Given the description of an element on the screen output the (x, y) to click on. 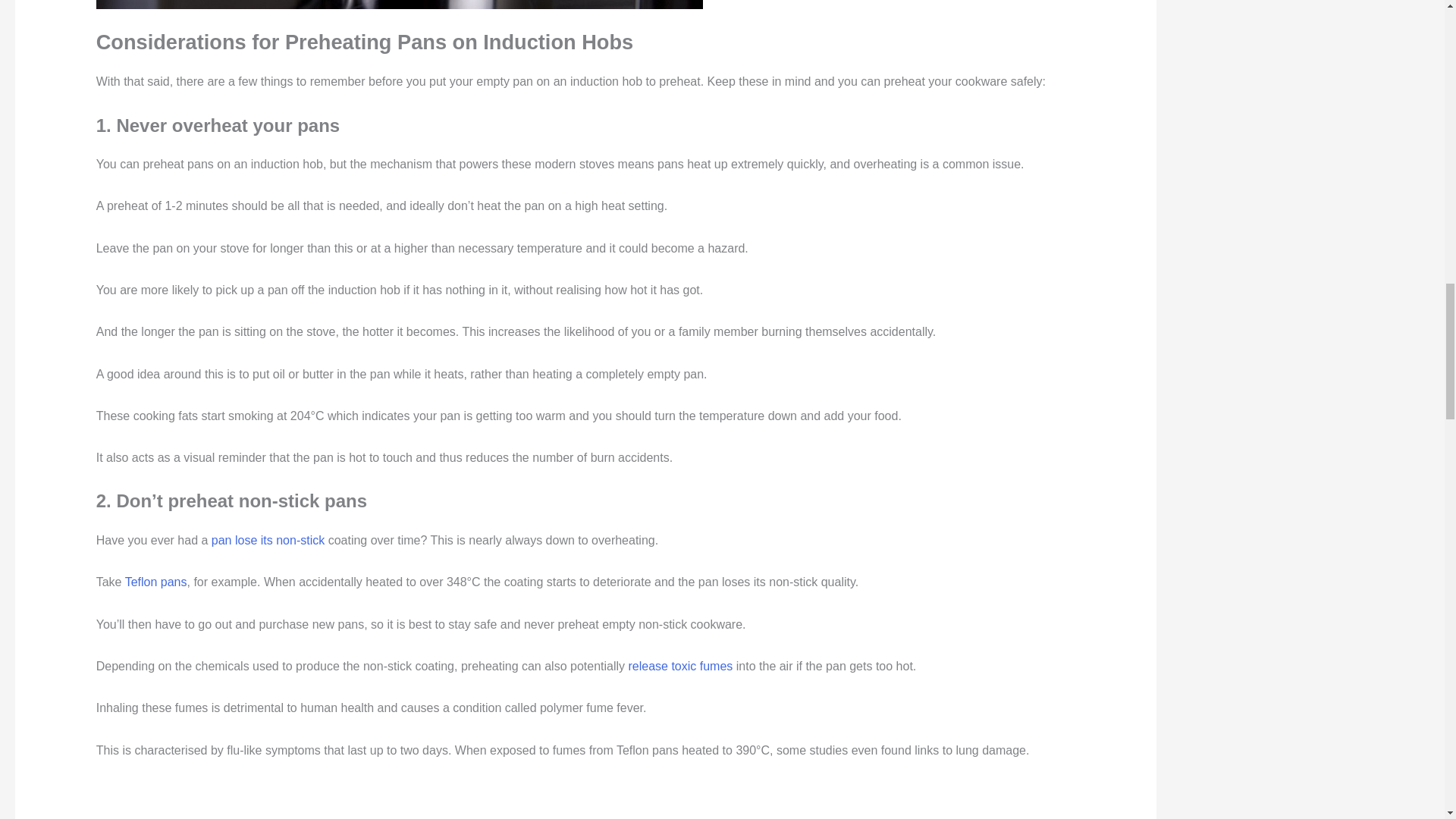
pan lose its non-stick (267, 540)
Teflon pans (156, 581)
release toxic fumes (679, 666)
